Given the description of an element on the screen output the (x, y) to click on. 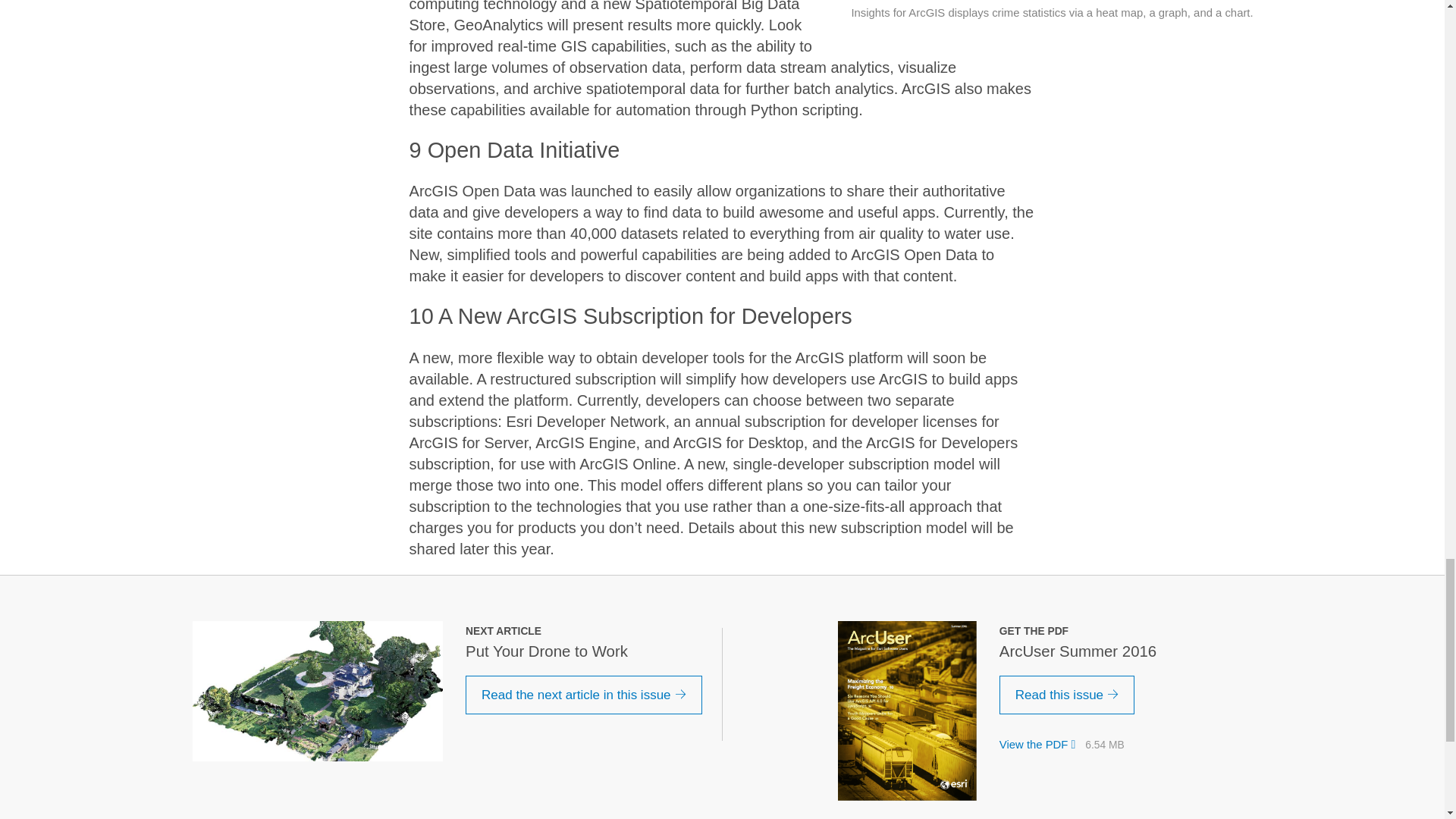
View the PDF 6.54 MB (1061, 744)
Read the next article in this issue (583, 694)
Read this issue (1066, 694)
